Given the description of an element on the screen output the (x, y) to click on. 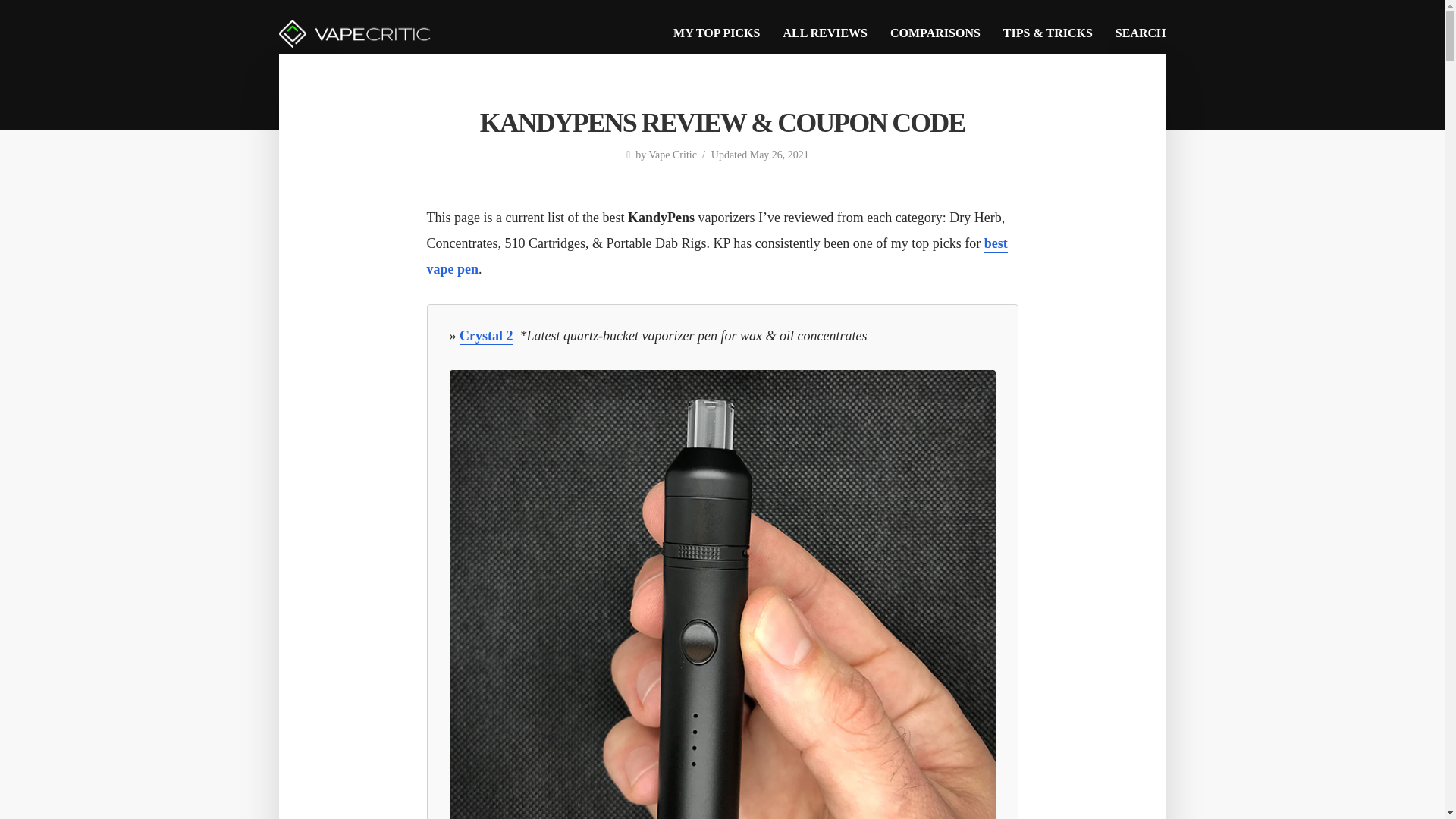
Best Vape Pen (716, 256)
ALL REVIEWS (825, 32)
MY TOP PICKS (716, 32)
